Given the description of an element on the screen output the (x, y) to click on. 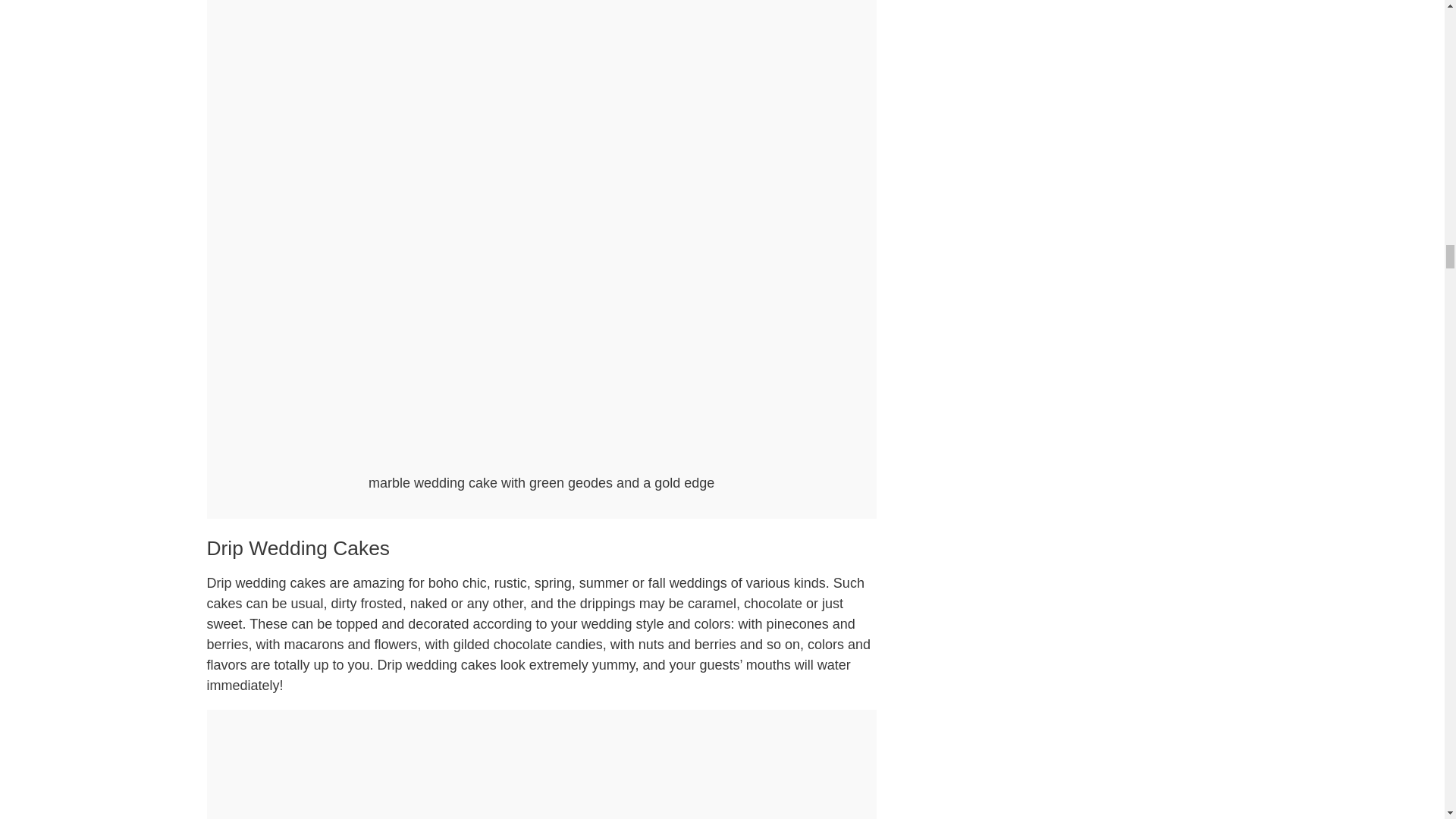
Drip Wedding Cakes (298, 548)
